Given the description of an element on the screen output the (x, y) to click on. 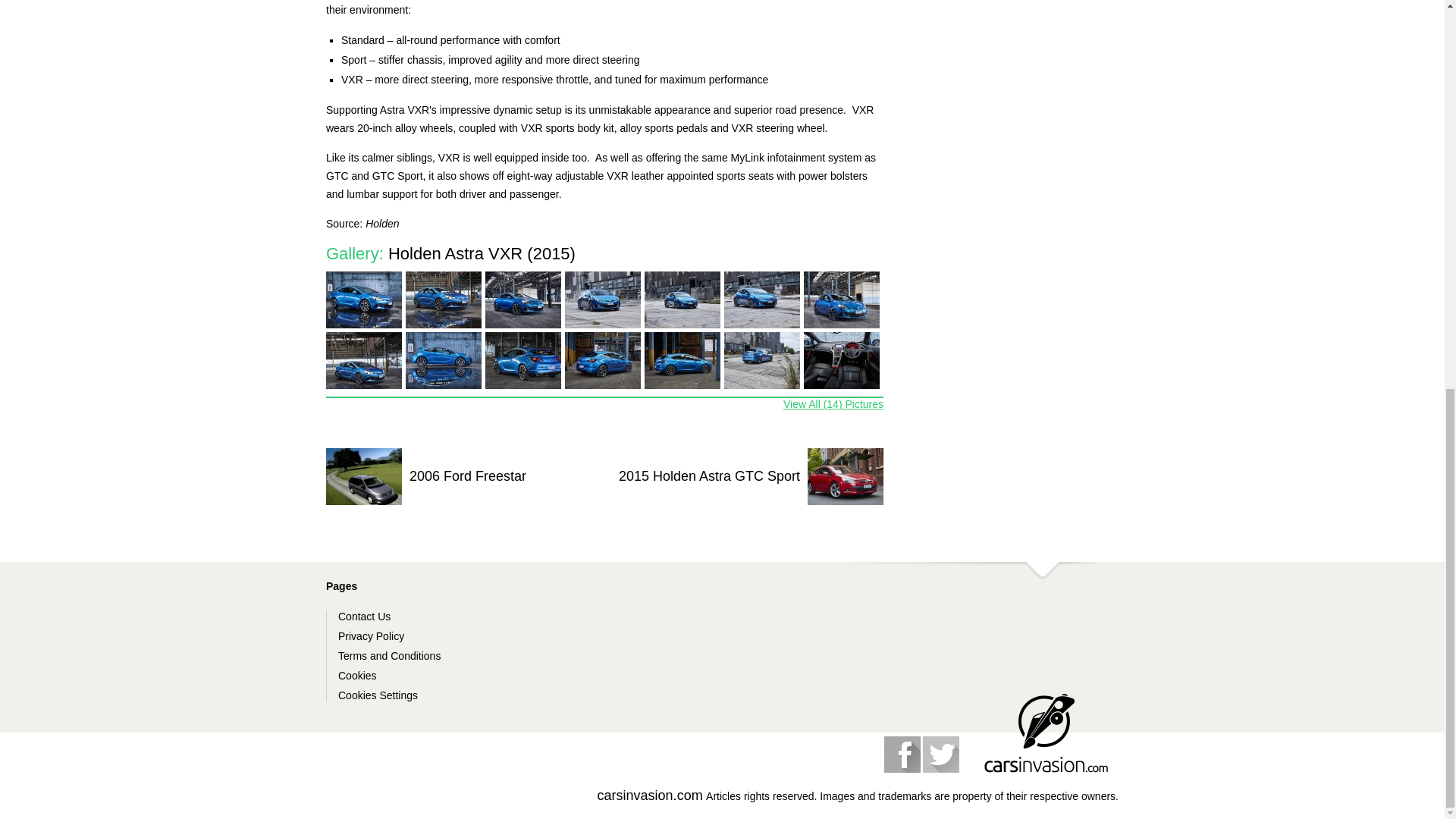
Click to view full size image (363, 360)
Click to view full size image (443, 299)
Click to view full size image (602, 299)
Click to view full size image (522, 360)
Click to view full size image (841, 360)
Click to view full size image (761, 360)
Terms and Conditions (389, 655)
Click to view full size image (363, 299)
Cookies (357, 675)
Click to view full size image (761, 299)
Click to view full size image (522, 299)
Click to view full size image (841, 299)
Privacy Policy (370, 635)
Contact Us (363, 616)
2015 Holden Astra GTC Sport (744, 476)
